Given the description of an element on the screen output the (x, y) to click on. 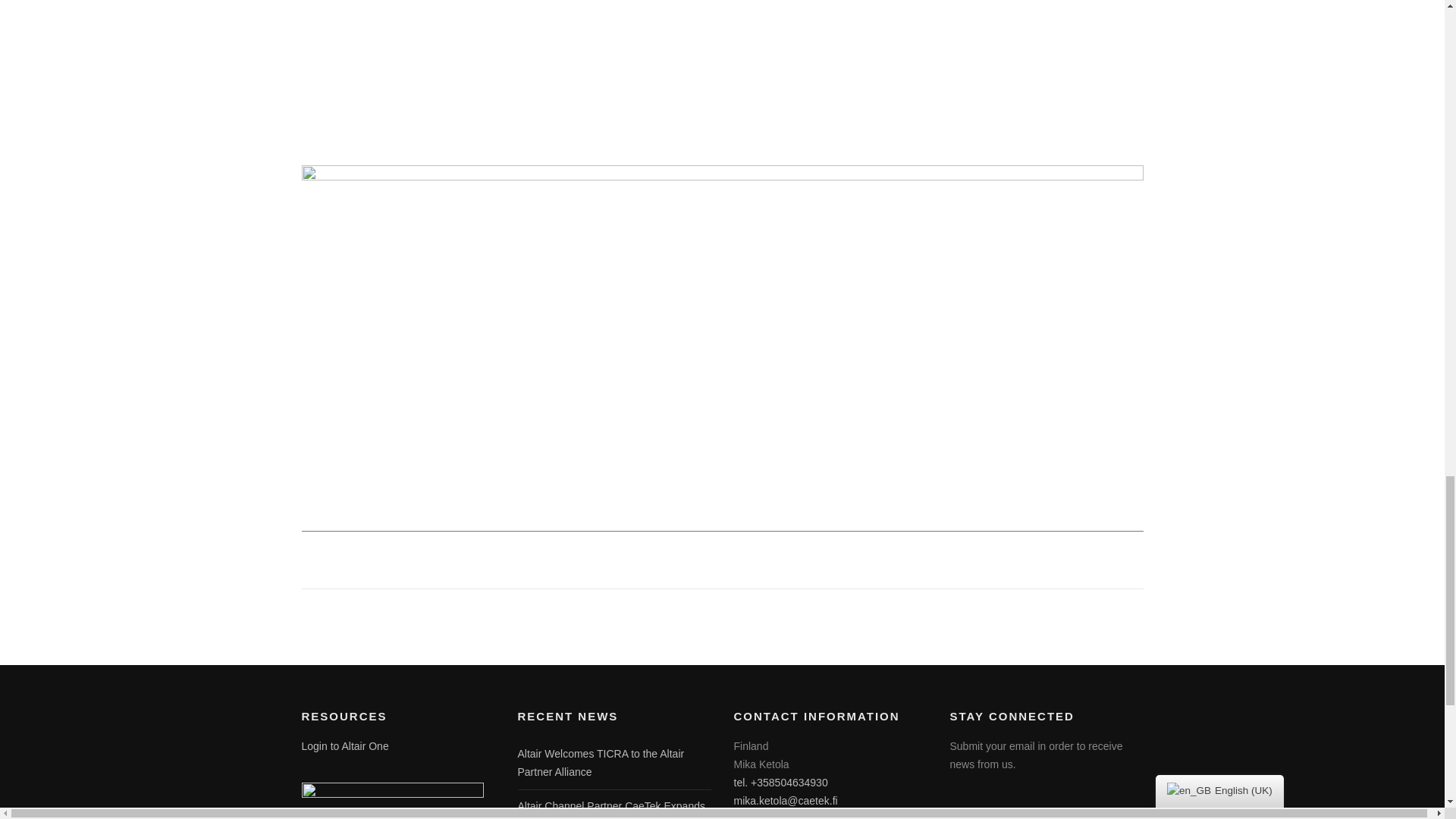
Login to Altair One (344, 746)
Altair Channel Partner CaeTek Expands into Norway (610, 809)
Altair Welcomes TICRA to the Altair Partner Alliance (600, 762)
